Given the description of an element on the screen output the (x, y) to click on. 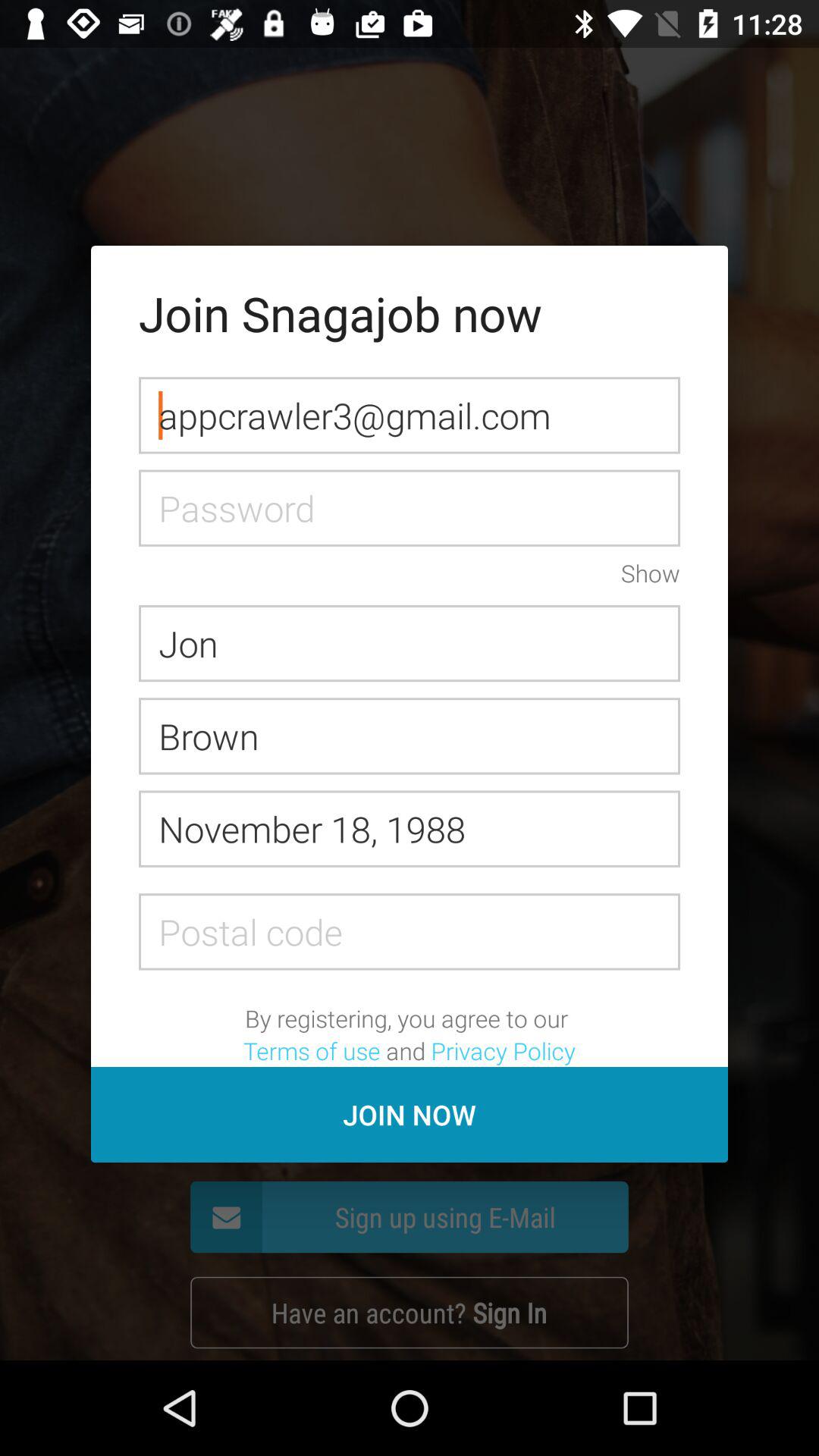
enter date of birth (409, 828)
